Given the description of an element on the screen output the (x, y) to click on. 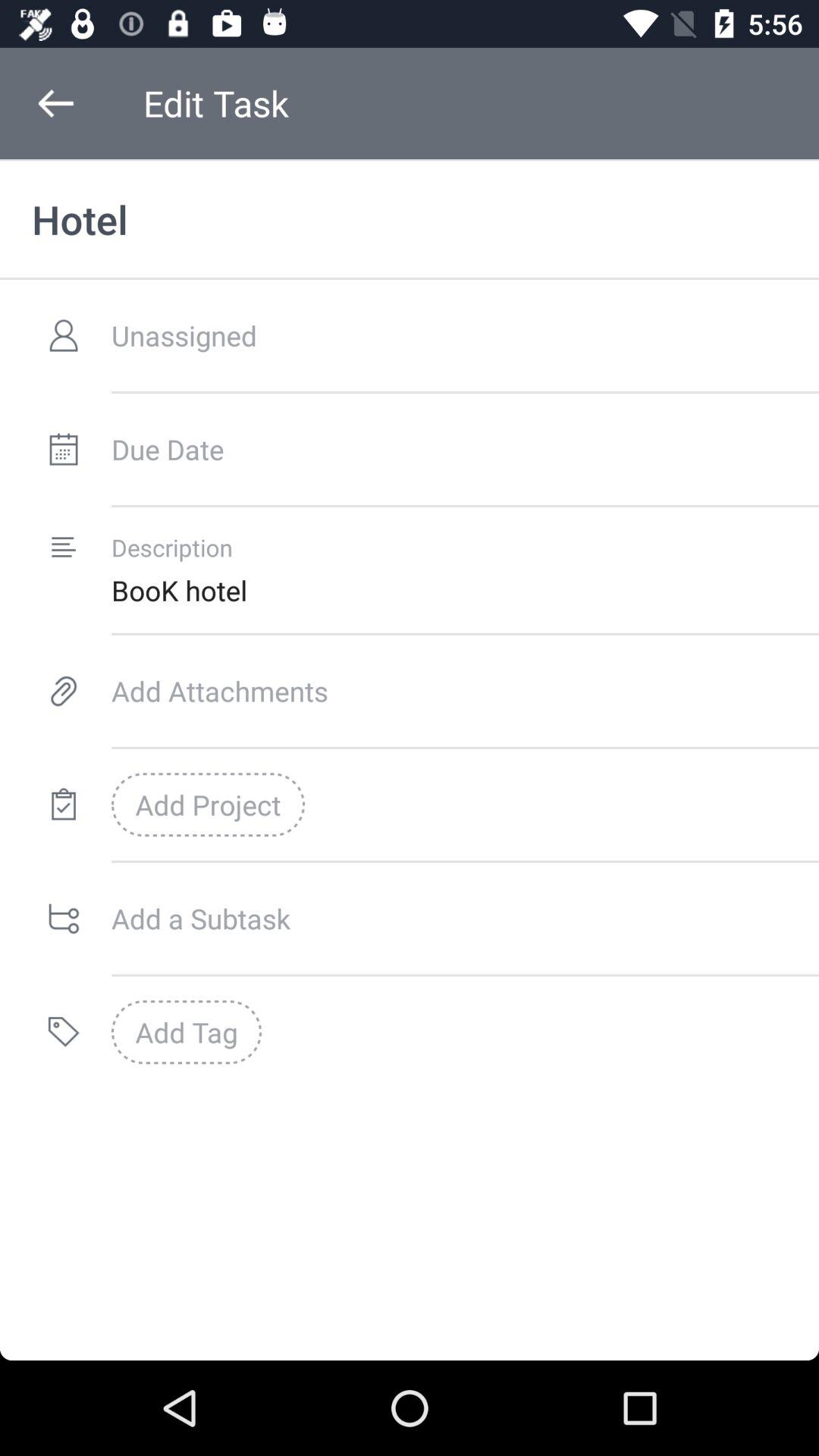
press the add project (207, 804)
